Given the description of an element on the screen output the (x, y) to click on. 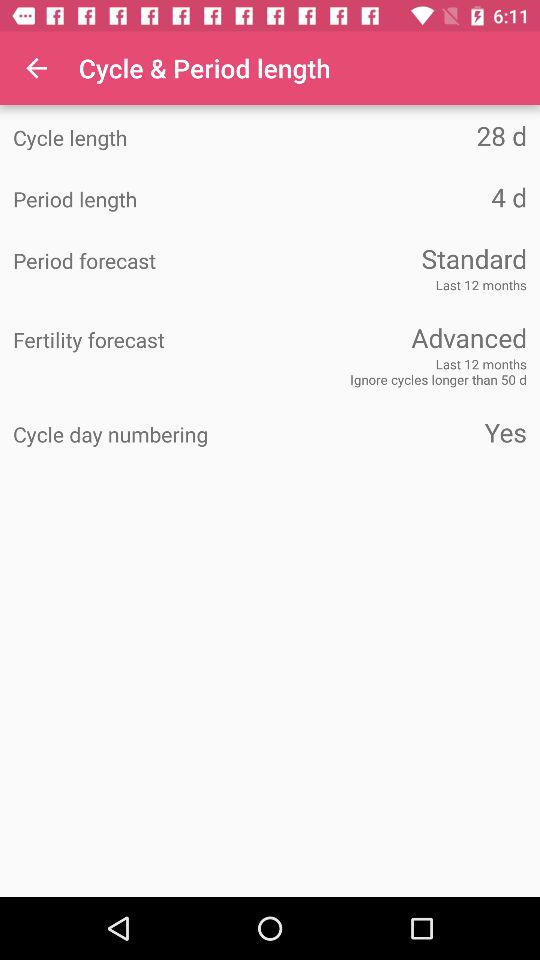
choose icon next to fertility forecast icon (398, 337)
